Given the description of an element on the screen output the (x, y) to click on. 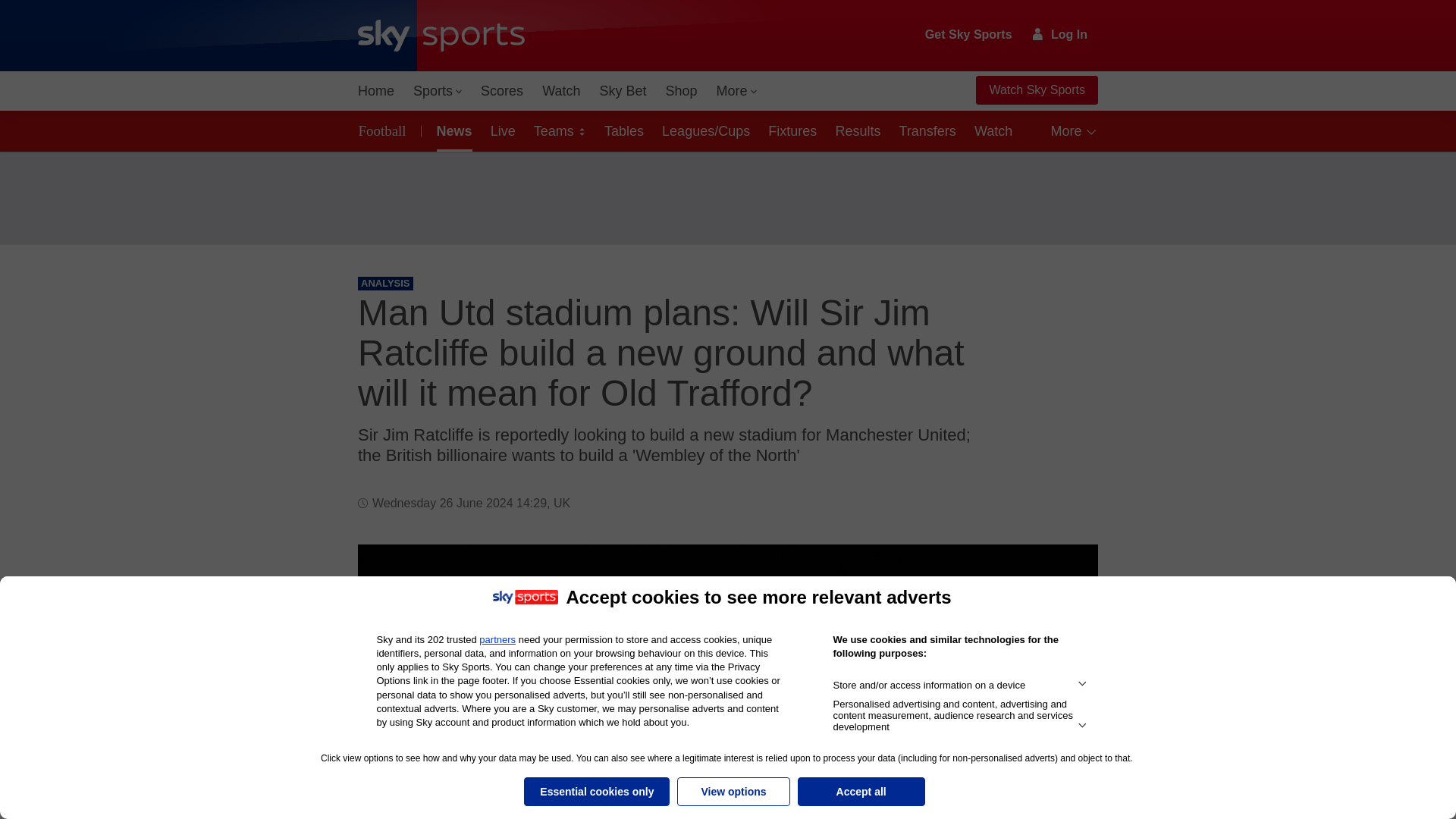
News (451, 130)
Watch (561, 91)
Shop (681, 91)
Sports (437, 91)
Scores (502, 91)
Get Sky Sports (968, 34)
More (736, 91)
Log In (1060, 33)
Share (1067, 574)
Sky Bet (622, 91)
Watch Sky Sports (1036, 90)
Home (375, 91)
Football (385, 130)
